Given the description of an element on the screen output the (x, y) to click on. 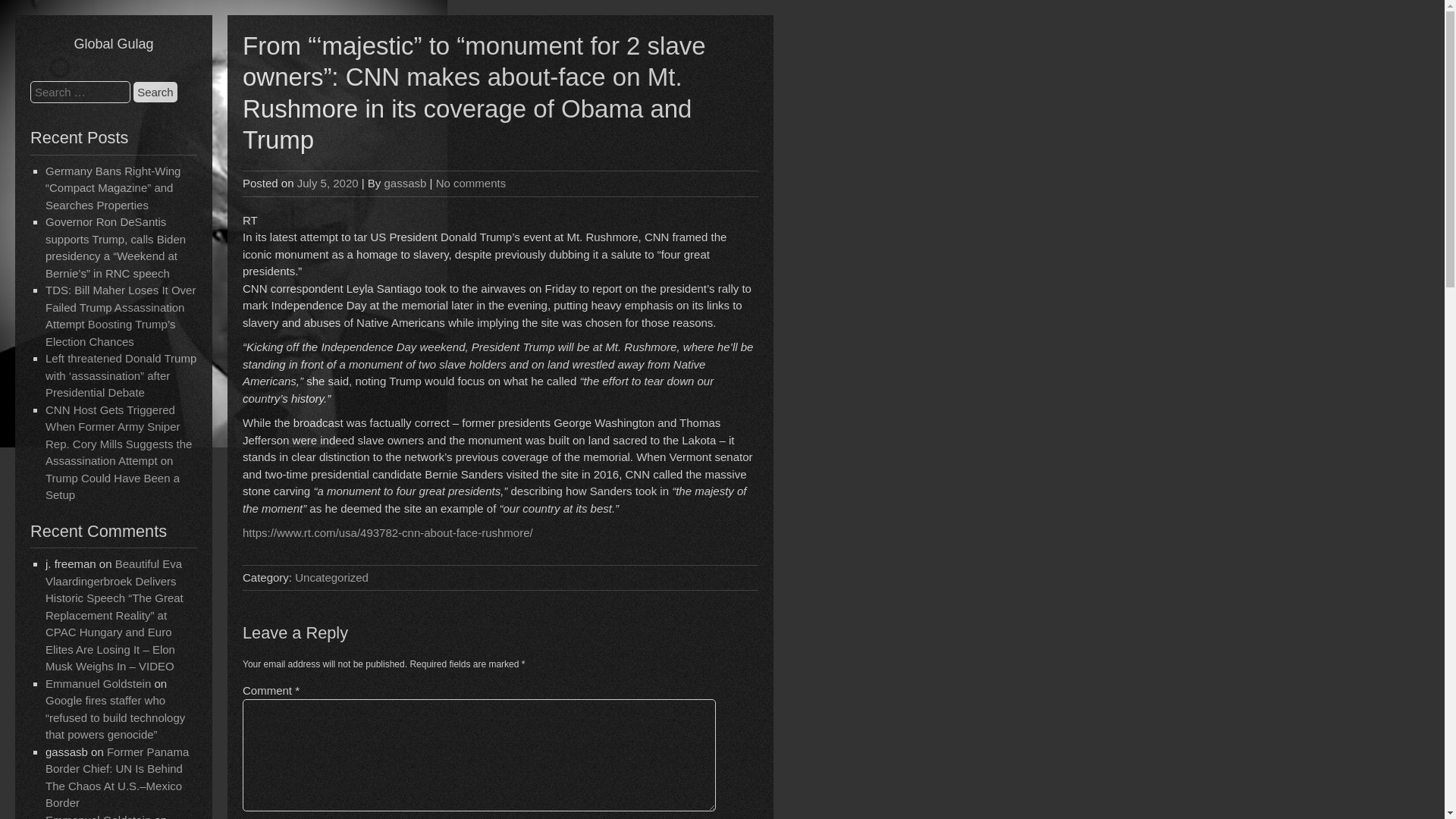
Search (155, 91)
Emmanuel Goldstein (98, 683)
Emmanuel Goldstein (98, 816)
Search (155, 91)
Search (155, 91)
